Given the description of an element on the screen output the (x, y) to click on. 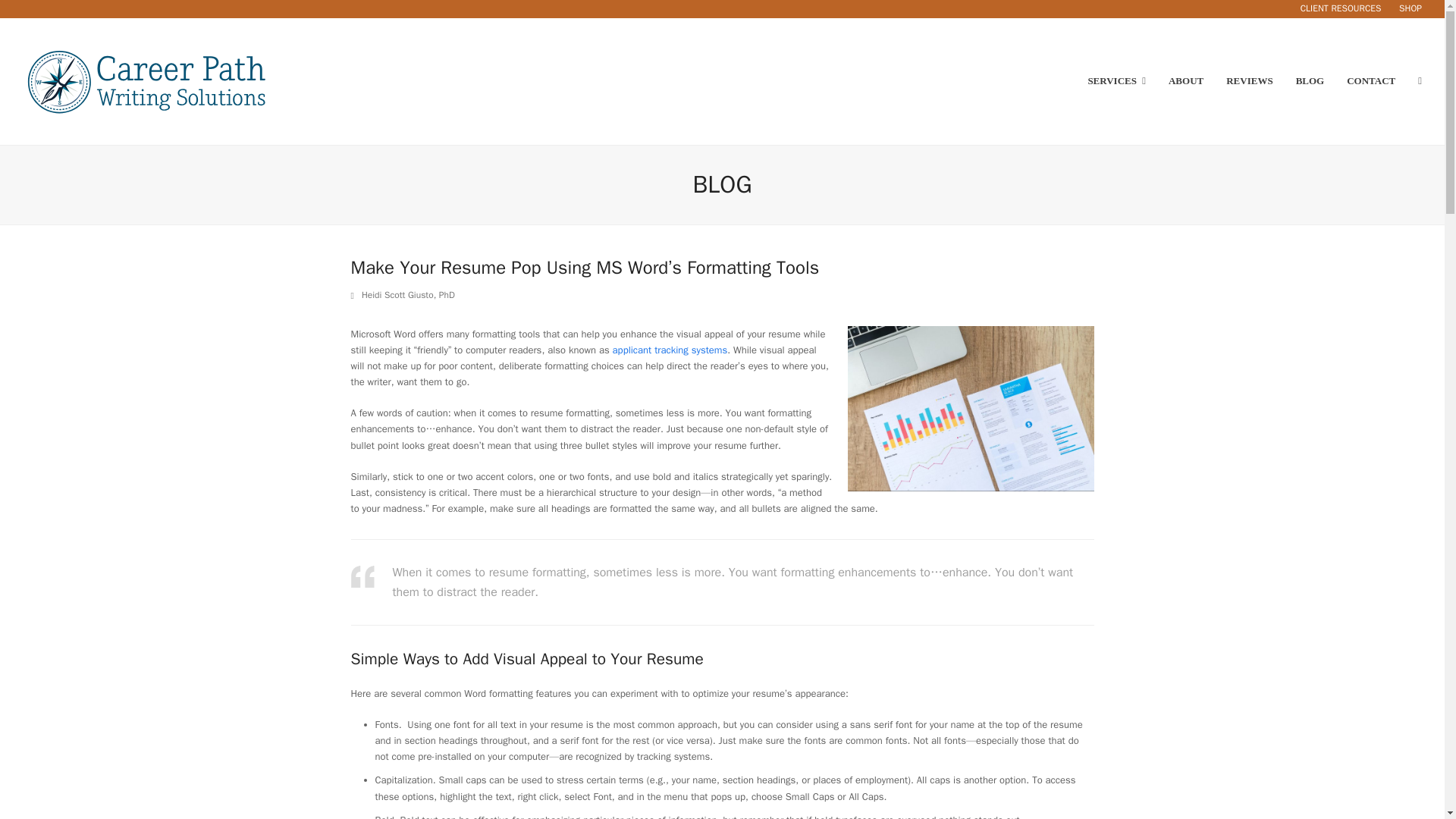
Heidi Scott Giusto, PhD (407, 295)
SHOP (1410, 8)
applicant tracking systems (670, 349)
CLIENT RESOURCES (1340, 8)
Posts by Heidi Scott Giusto, PhD (407, 295)
